Given the description of an element on the screen output the (x, y) to click on. 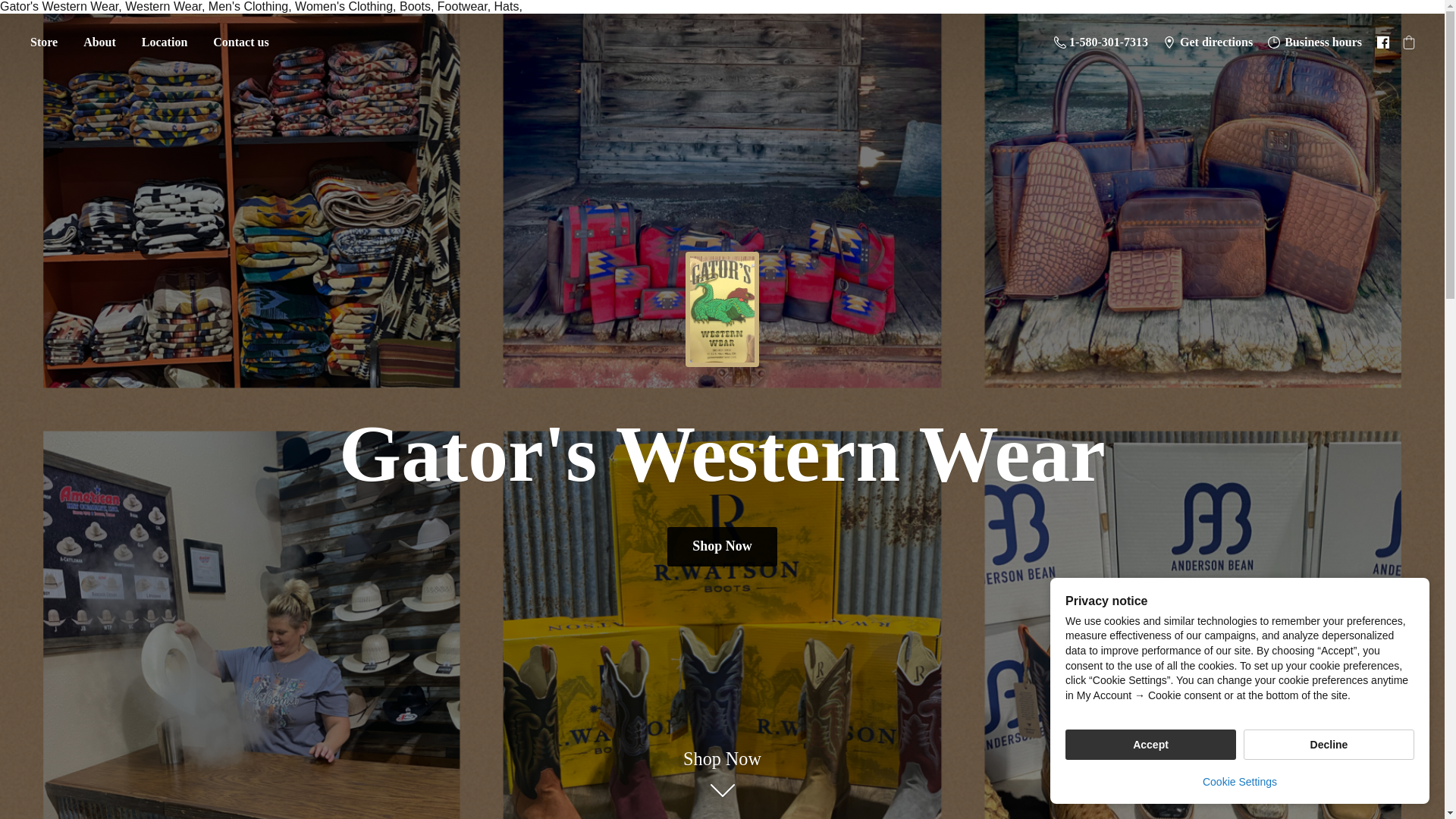
Store (43, 42)
Contact us (240, 42)
1-580-301-7313 (1101, 42)
About (99, 42)
Business hours (1315, 42)
Location (164, 42)
Get directions (1208, 42)
Shop Now (721, 546)
